Given the description of an element on the screen output the (x, y) to click on. 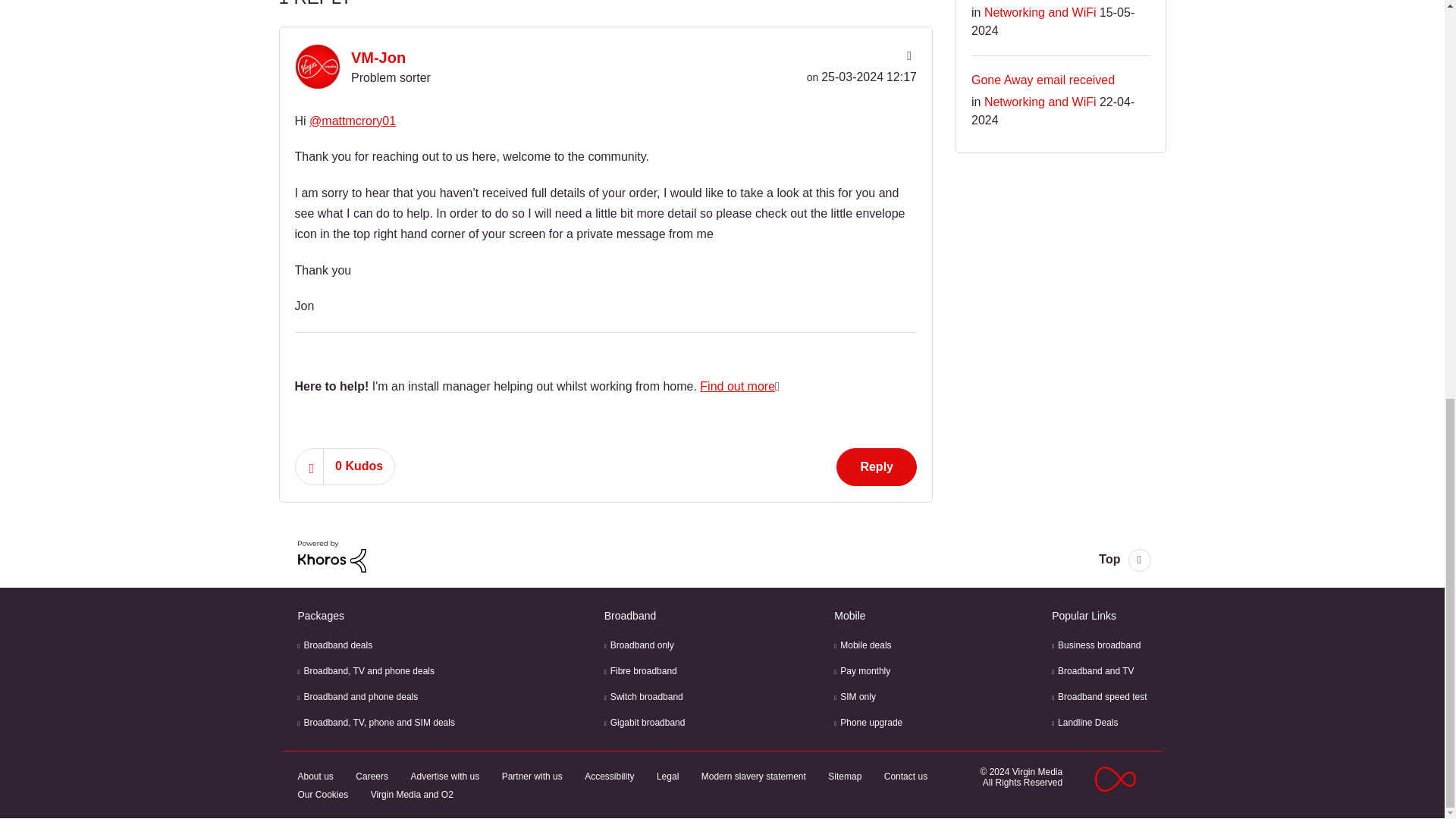
VM-Jon (316, 66)
The total number of kudos this post has received. (358, 466)
